Given the description of an element on the screen output the (x, y) to click on. 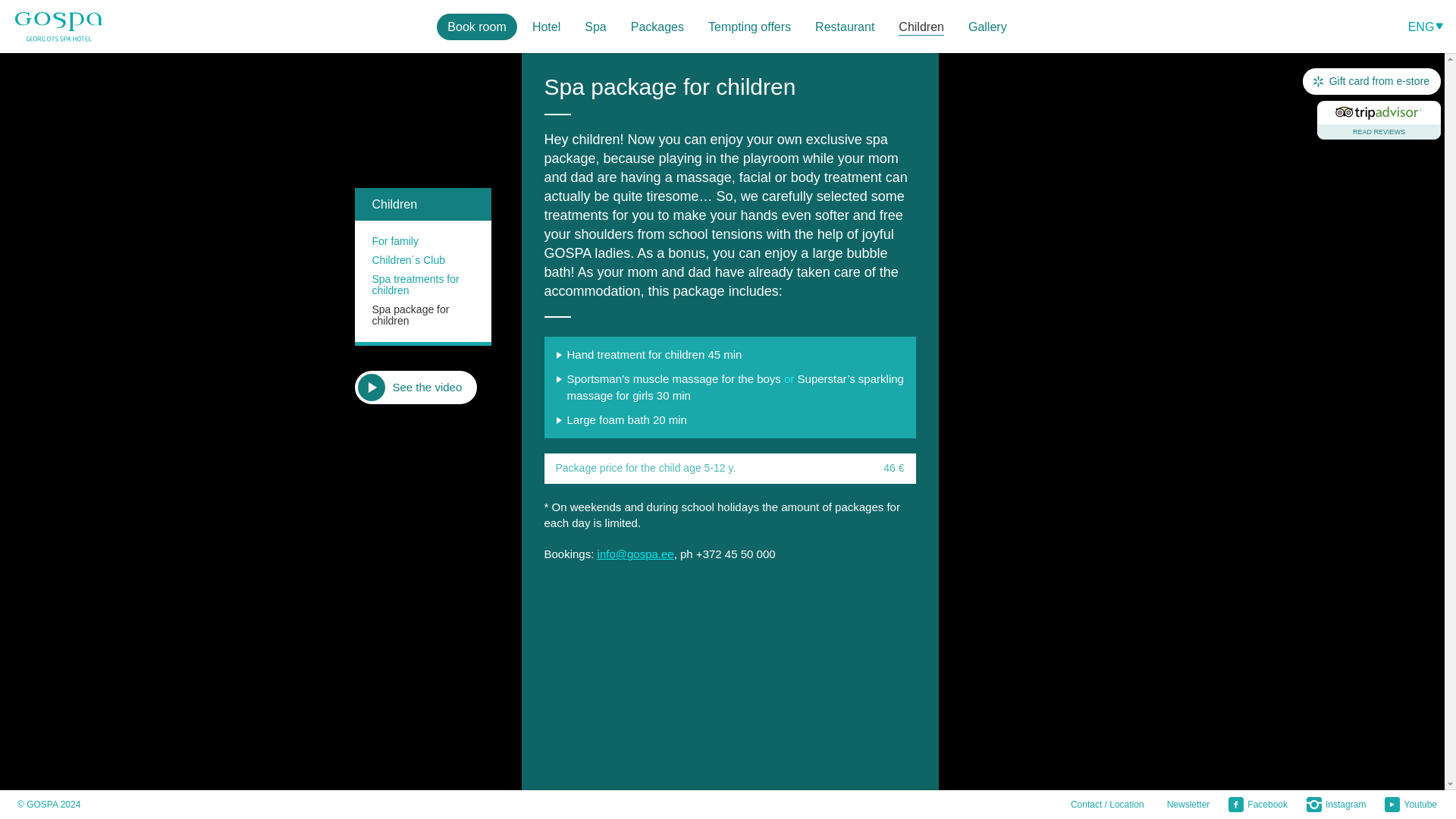
Children (921, 27)
Hotel (545, 27)
GOSPA (57, 26)
Spa (594, 27)
Restaurant (844, 27)
Tempting offers (749, 27)
Book room (476, 26)
Packages (656, 27)
